Given the description of an element on the screen output the (x, y) to click on. 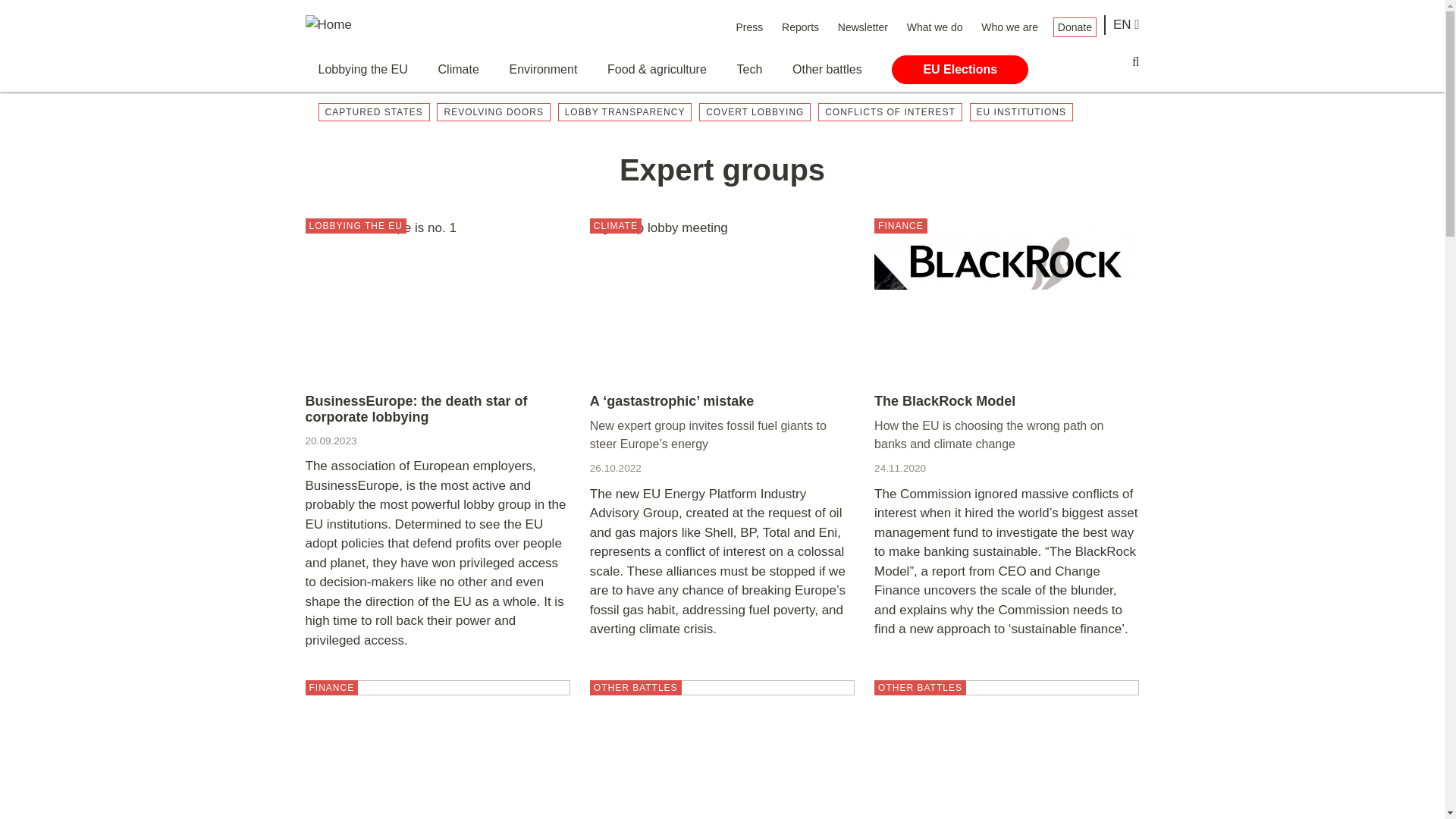
Lobbying the EU (362, 69)
Press (749, 27)
Tech (749, 69)
EN (1126, 25)
What we do (934, 27)
Donate (1074, 26)
Climate (458, 69)
EU Elections (959, 69)
Who we are (1009, 27)
